Given the description of an element on the screen output the (x, y) to click on. 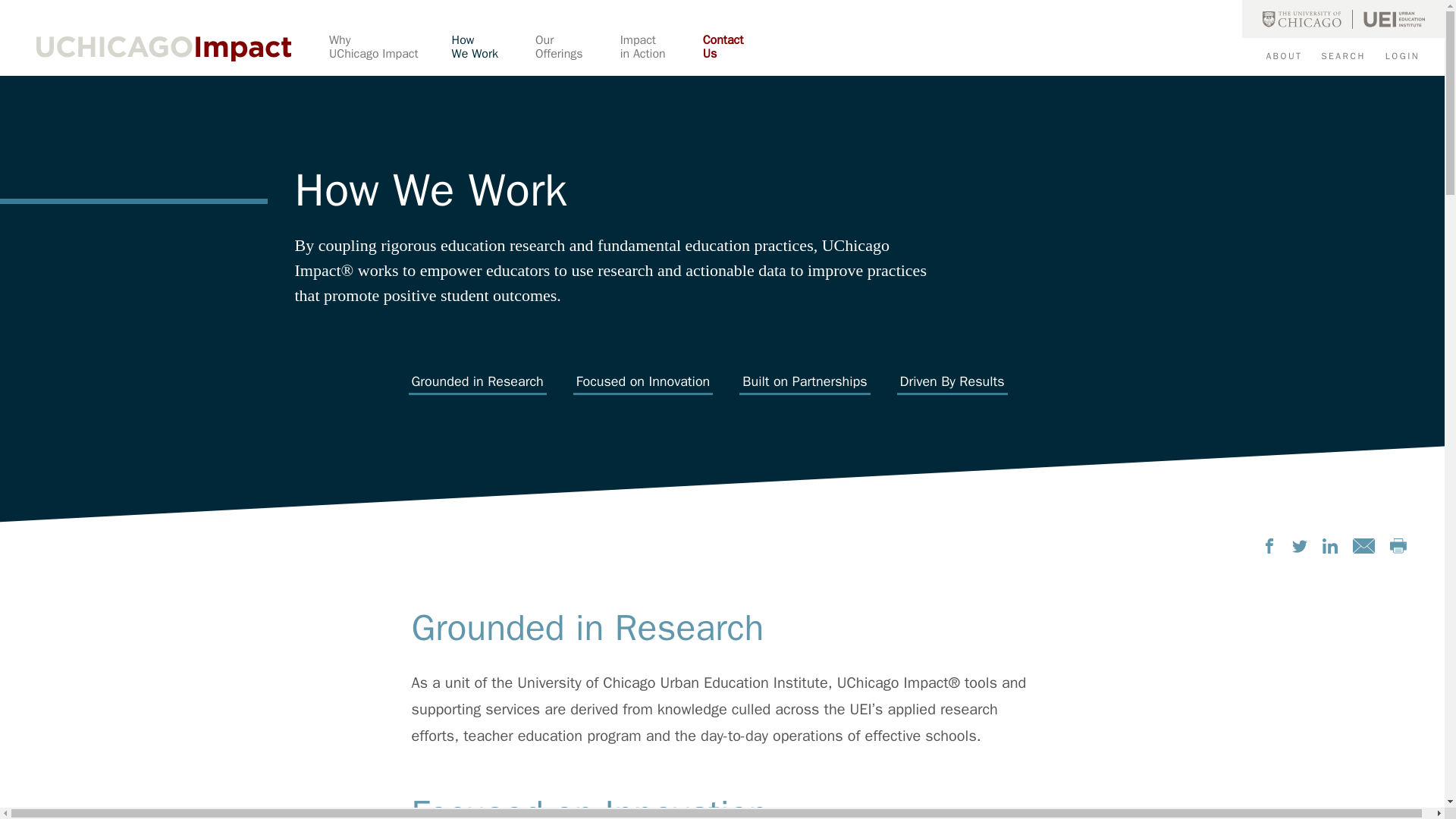
Twitter (1299, 545)
LOGIN (1410, 56)
Skip to main content (577, 54)
ABOUT (390, 54)
